Given the description of an element on the screen output the (x, y) to click on. 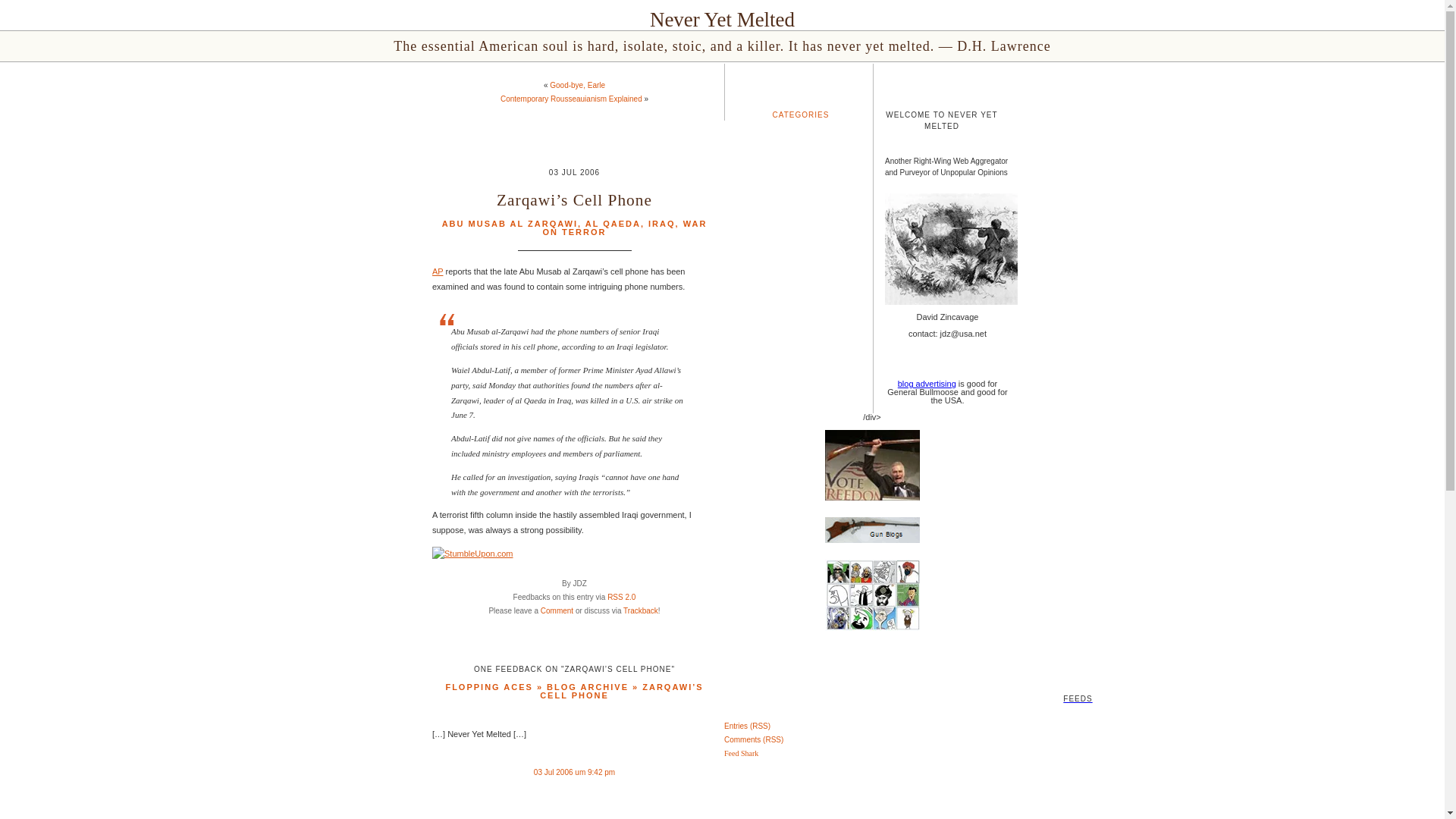
03 Jul 2006 um 9:42 pm (574, 772)
WAR ON TERROR (625, 227)
IRAQ (661, 223)
Never Yet Melted (721, 19)
Good-bye, Earle (577, 85)
AL QAEDA (612, 223)
Contemporary Rousseauianism Explained (571, 99)
FEEDS (721, 675)
Comment (556, 610)
AP (437, 271)
